Given the description of an element on the screen output the (x, y) to click on. 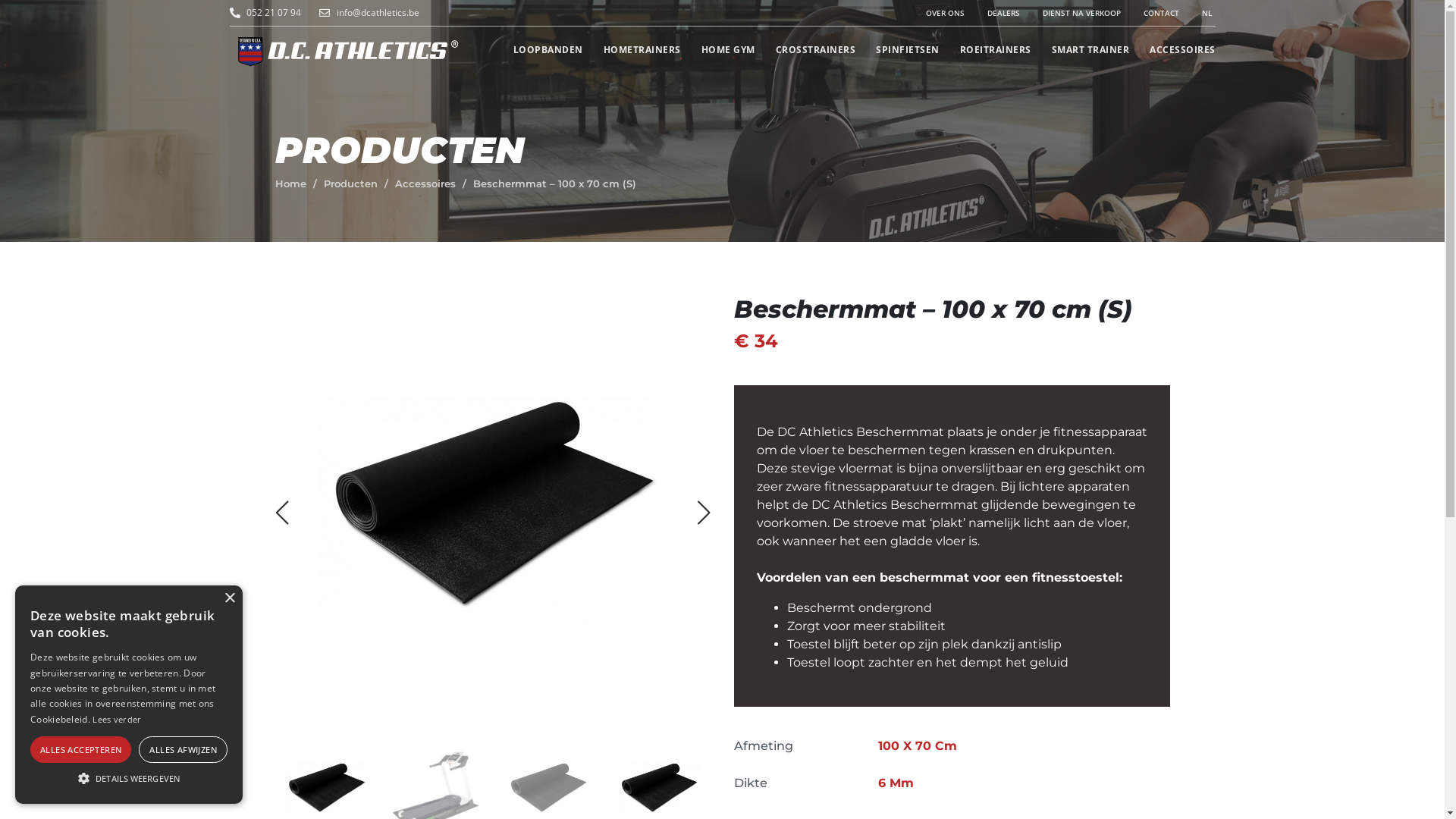
HOME GYM Element type: text (717, 49)
SMART TRAINER Element type: text (1080, 49)
Lees verder Element type: text (116, 718)
OVER ONS Element type: text (933, 12)
DIENST NA VERKOOP Element type: text (1069, 12)
052 21 07 94 Element type: text (274, 12)
LOOPBANDEN Element type: text (537, 49)
CROSSTRAINERS Element type: text (805, 49)
DEALERS Element type: text (991, 12)
Producten Element type: text (349, 183)
SPINFIETSEN Element type: text (897, 49)
Home Element type: text (289, 183)
info@dcathletics.be Element type: text (448, 12)
NL Element type: text (1195, 12)
Accessoires Element type: text (424, 183)
ACCESSOIRES Element type: text (1172, 49)
CONTACT Element type: text (1149, 12)
ROEITRAINERS Element type: text (984, 49)
HOMETRAINERS Element type: text (631, 49)
